Given the description of an element on the screen output the (x, y) to click on. 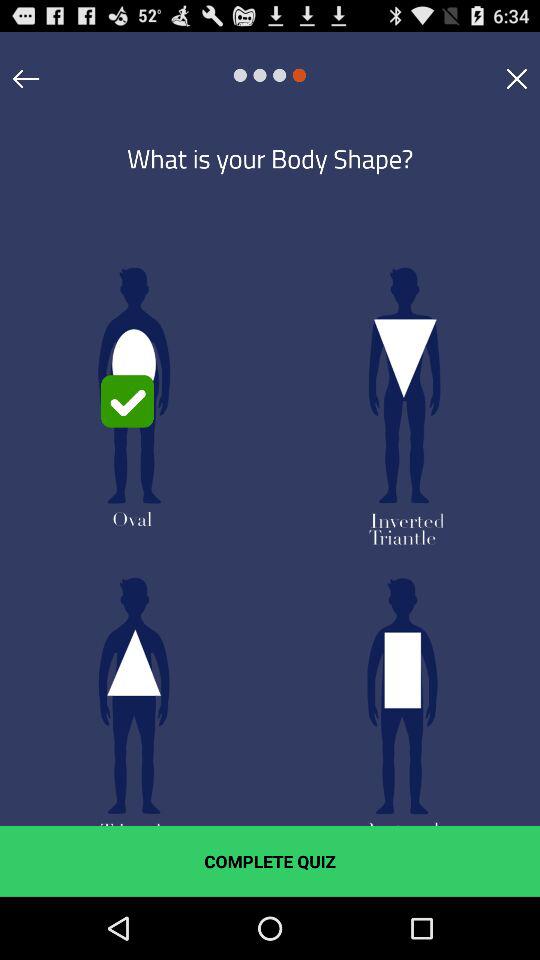
click close option (516, 78)
